Given the description of an element on the screen output the (x, y) to click on. 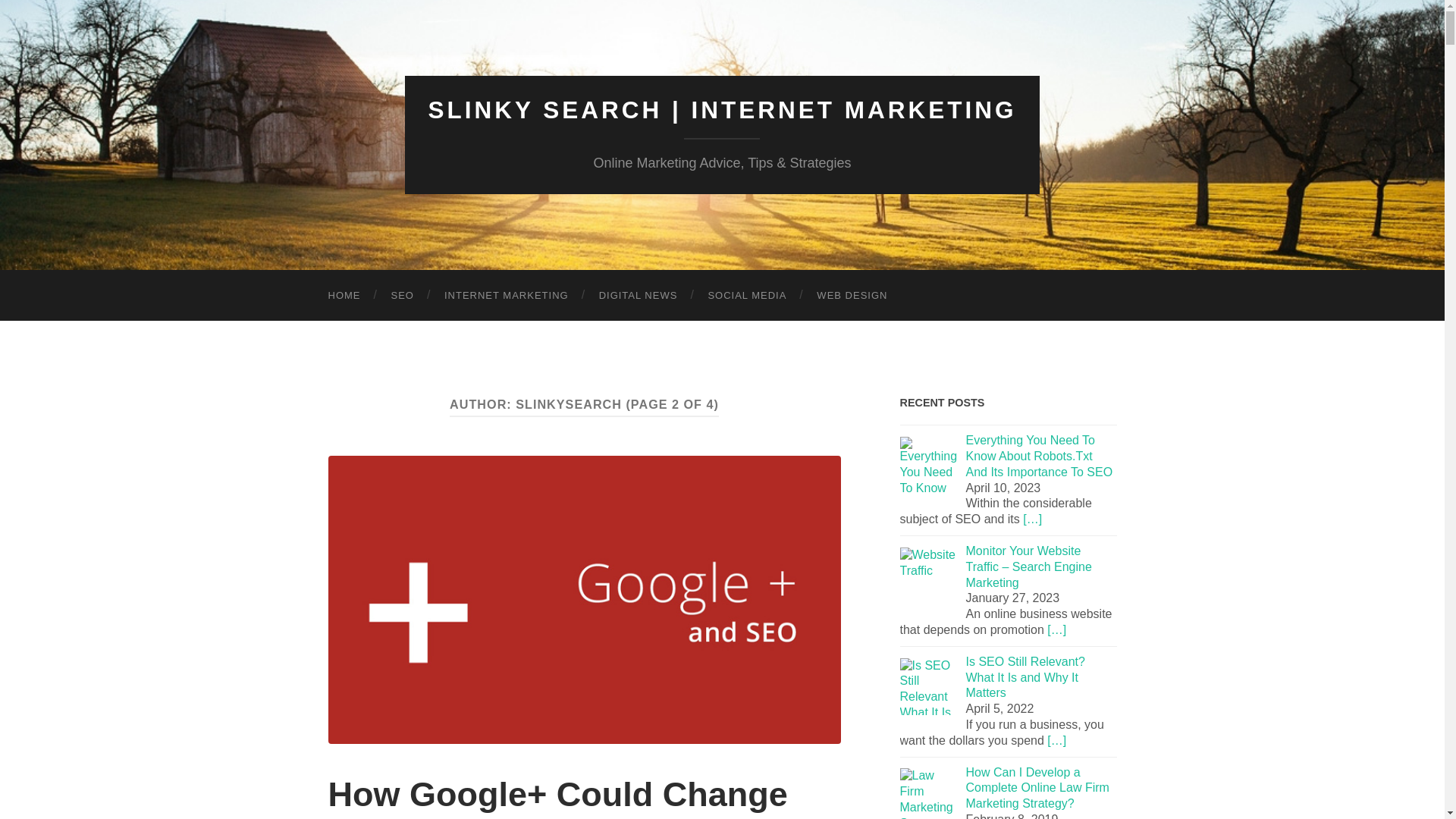
SEO (402, 295)
WEB DESIGN (852, 295)
INTERNET MARKETING (506, 295)
SOCIAL MEDIA (747, 295)
DIGITAL NEWS (638, 295)
HOME (344, 295)
